Given the description of an element on the screen output the (x, y) to click on. 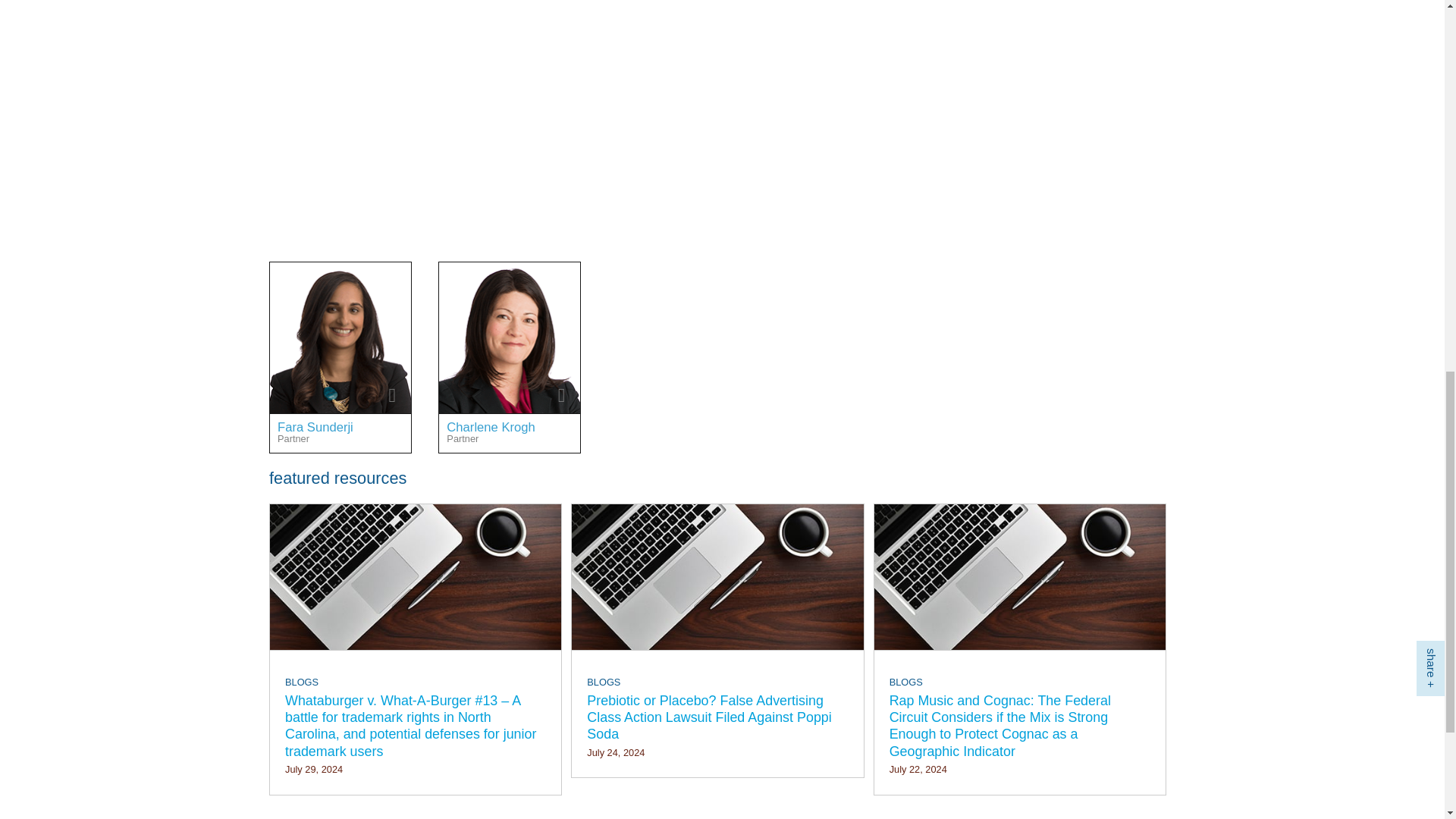
Denver (543, 279)
YouTube video player (481, 114)
New York (367, 279)
